Given the description of an element on the screen output the (x, y) to click on. 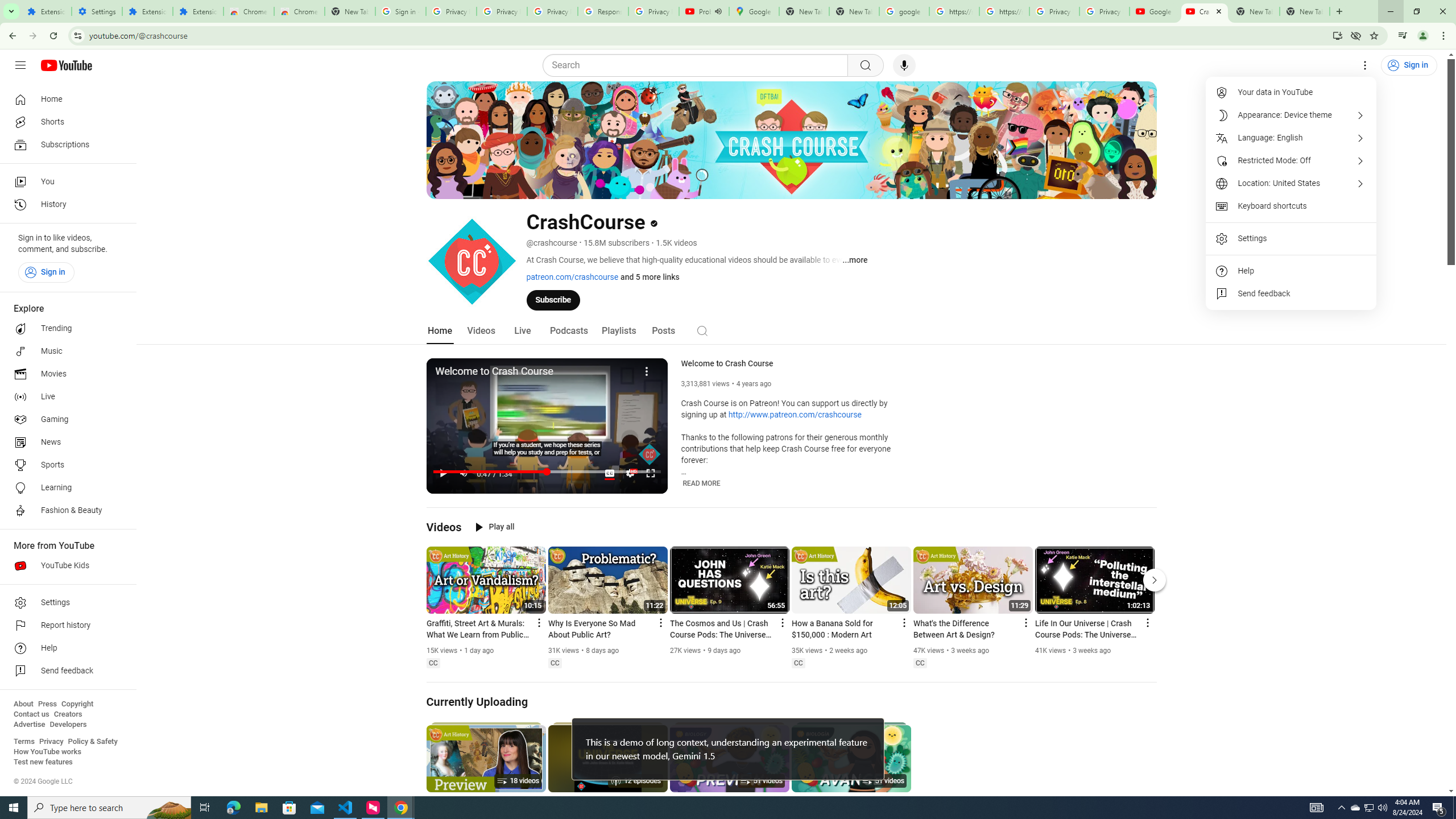
Subscribe (552, 299)
How YouTube works (47, 751)
News (64, 441)
Chrome Web Store - Themes (299, 11)
New Tab (350, 11)
Copyright (77, 703)
Policy & Safety (91, 741)
Your data in YouTube (1291, 92)
Live (64, 396)
Settings (97, 11)
Welcome to Crash Course (795, 363)
Movies (64, 373)
Extensions (197, 11)
